Given the description of an element on the screen output the (x, y) to click on. 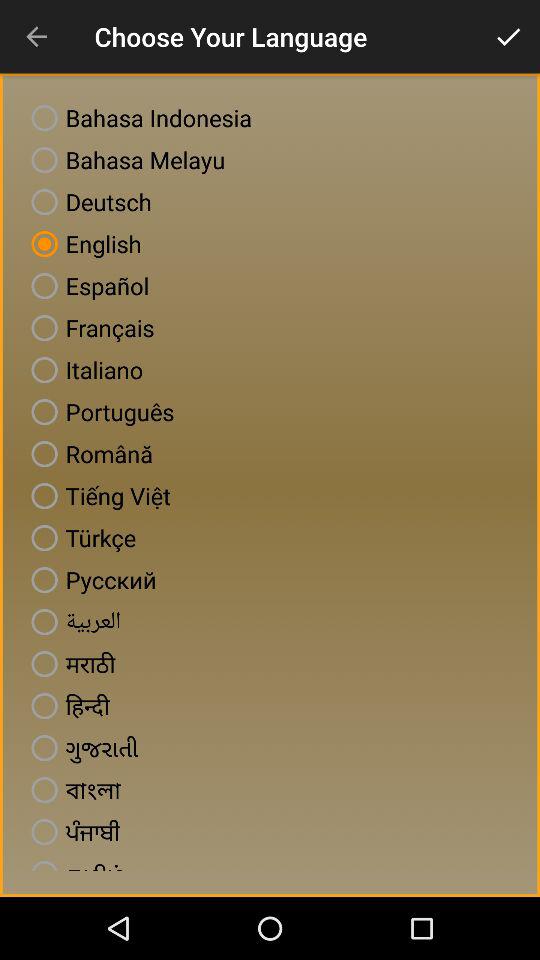
jump until deutsch item (87, 202)
